Given the description of an element on the screen output the (x, y) to click on. 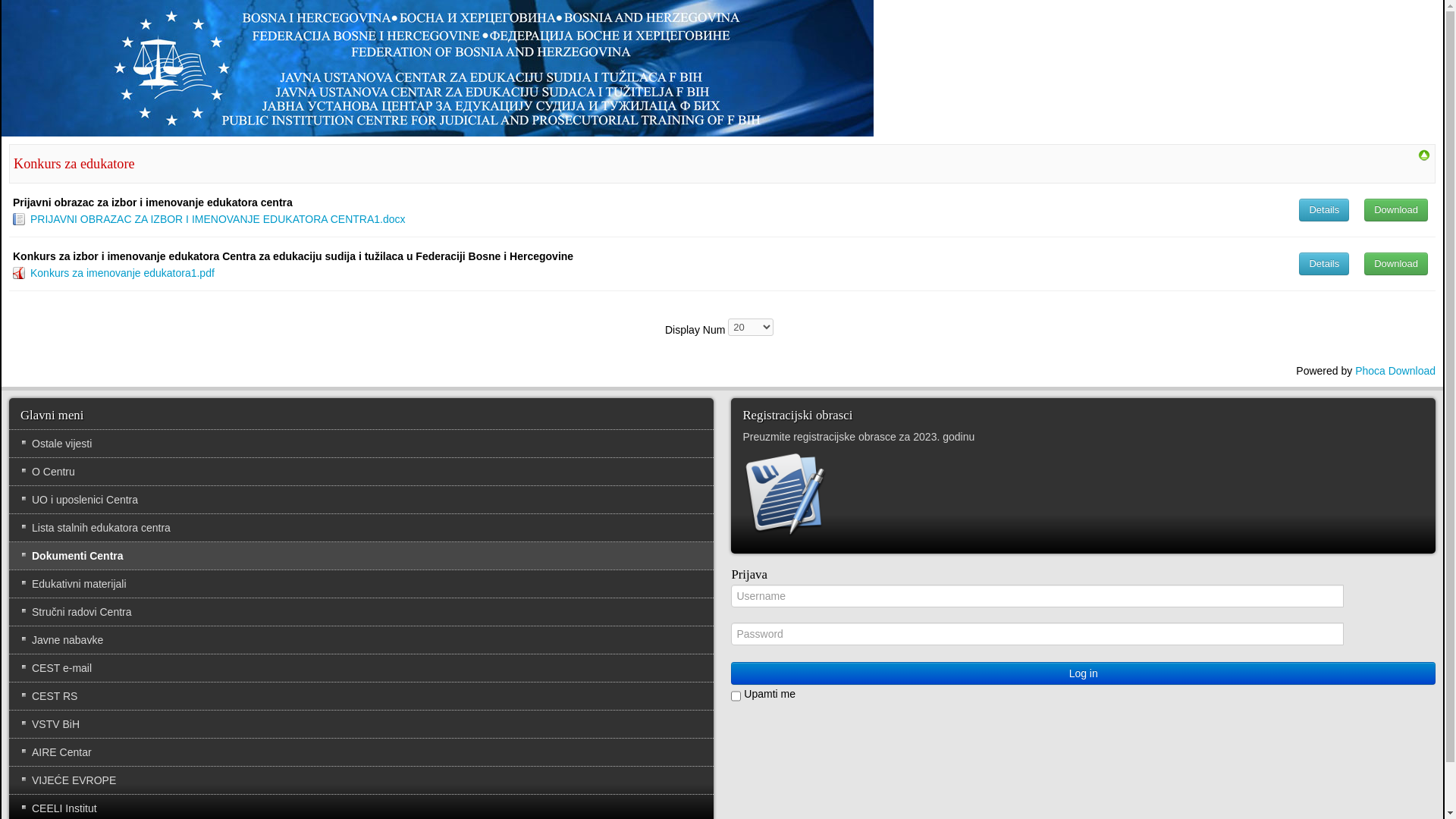
O Centru Element type: text (361, 471)
Log in Element type: text (1083, 673)
Details Element type: text (1324, 209)
CEST e-mail Element type: text (361, 667)
Download Element type: text (1395, 209)
AIRE Centar Element type: text (361, 751)
Ostale vijesti Element type: text (361, 443)
Lista stalnih edukatora centra Element type: text (361, 527)
Phoca Download Element type: text (1395, 370)
UO i uposlenici Centra Element type: text (361, 499)
Javne nabavke Element type: text (361, 639)
Konkurs za imenovanje edukatora1.pdf Element type: text (122, 272)
VSTV BiH Element type: text (361, 723)
CEST RS Element type: text (361, 695)
Dokumenti Centra Element type: text (361, 555)
Edukativni materijali Element type: text (361, 583)
Dokumenti Centra Element type: hover (1424, 154)
Download Element type: text (1395, 263)
Details Element type: text (1324, 263)
